Given the description of an element on the screen output the (x, y) to click on. 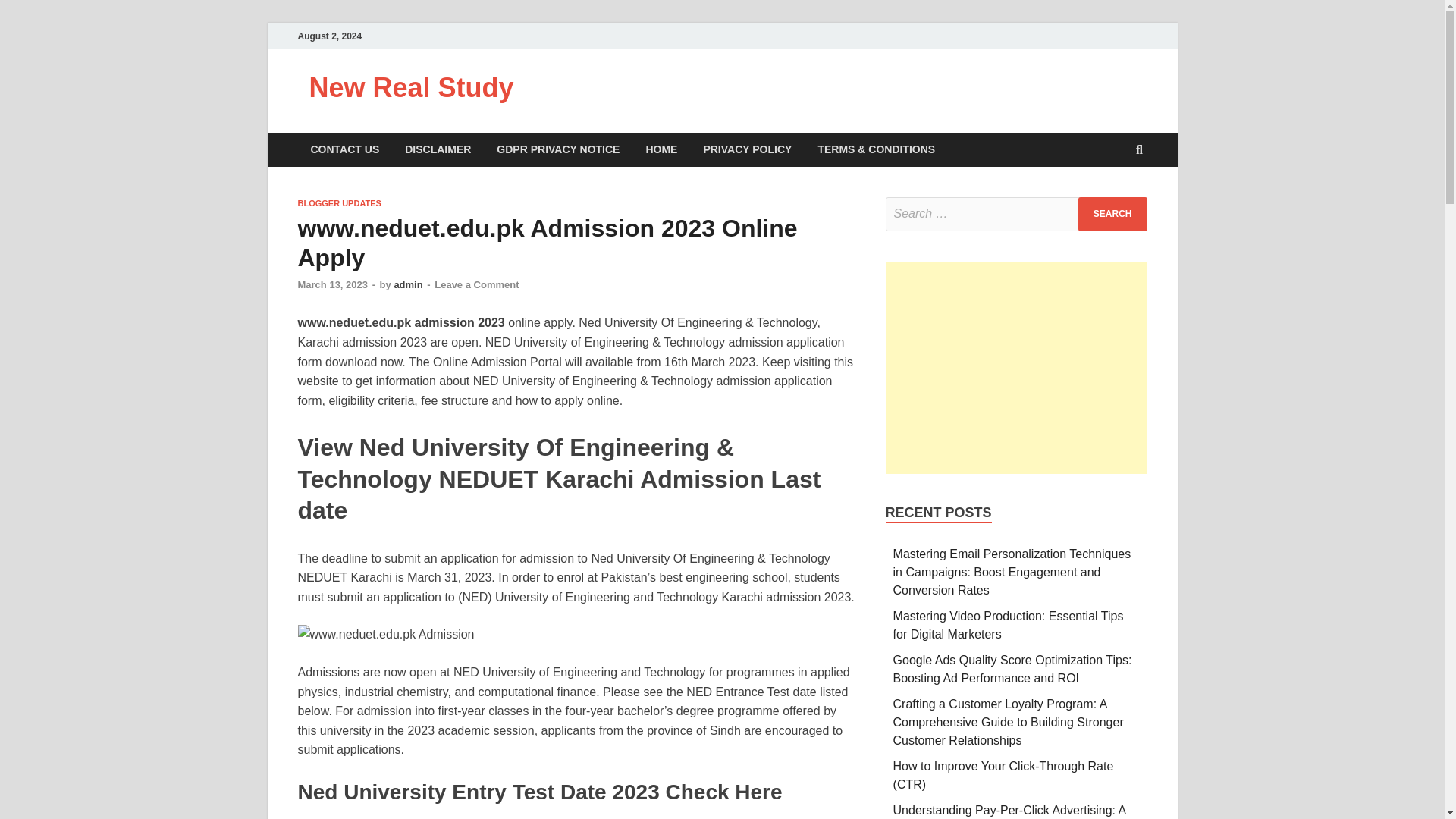
March 13, 2023 (332, 284)
Leave a Comment (475, 284)
PRIVACY POLICY (747, 149)
Search (1112, 213)
New Real Study (410, 87)
HOME (660, 149)
CONTACT US (344, 149)
BLOGGER UPDATES (338, 203)
DISCLAIMER (437, 149)
Search (1112, 213)
GDPR PRIVACY NOTICE (557, 149)
admin (407, 284)
